Given the description of an element on the screen output the (x, y) to click on. 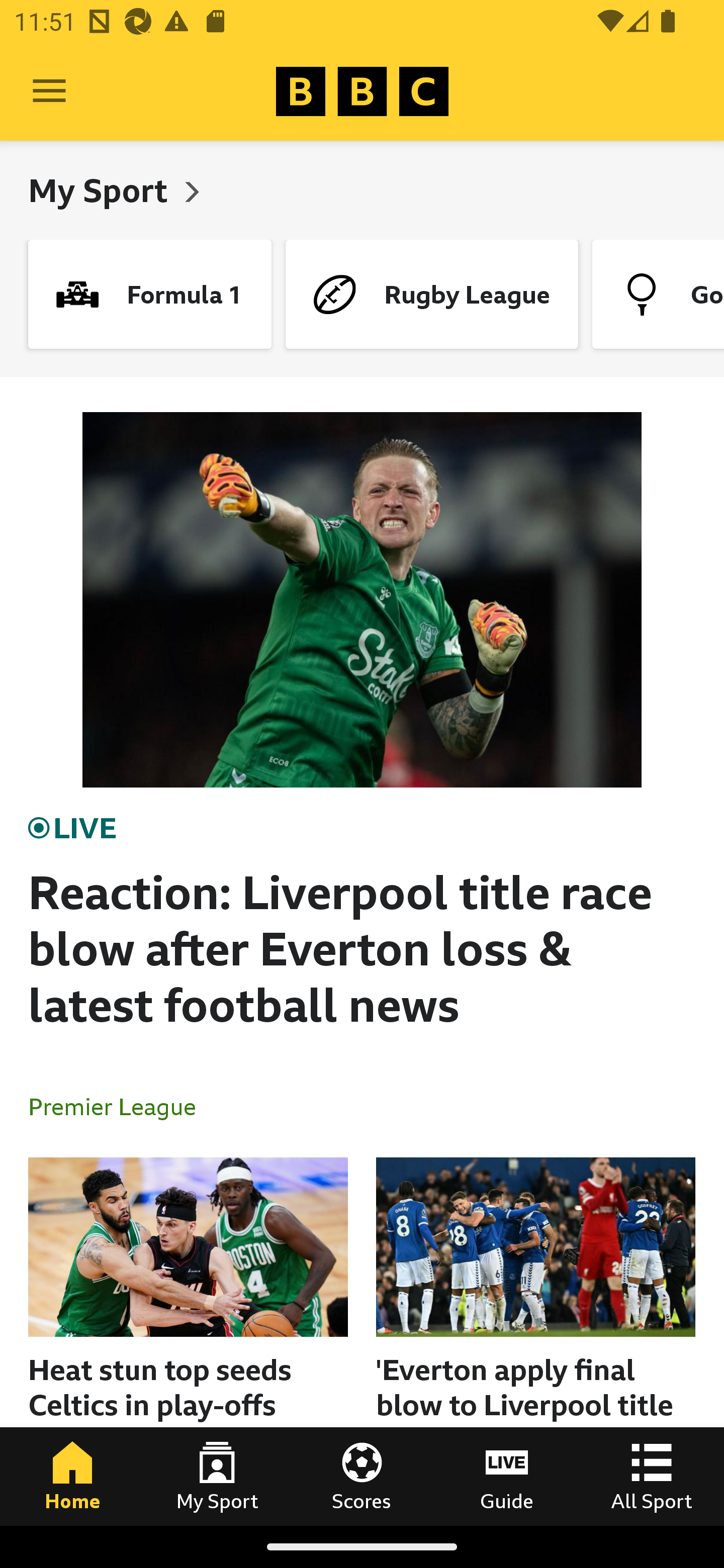
Open Menu (49, 91)
My Sport (101, 190)
Premier League In the section Premier League (119, 1106)
My Sport (216, 1475)
Scores (361, 1475)
Guide (506, 1475)
All Sport (651, 1475)
